Given the description of an element on the screen output the (x, y) to click on. 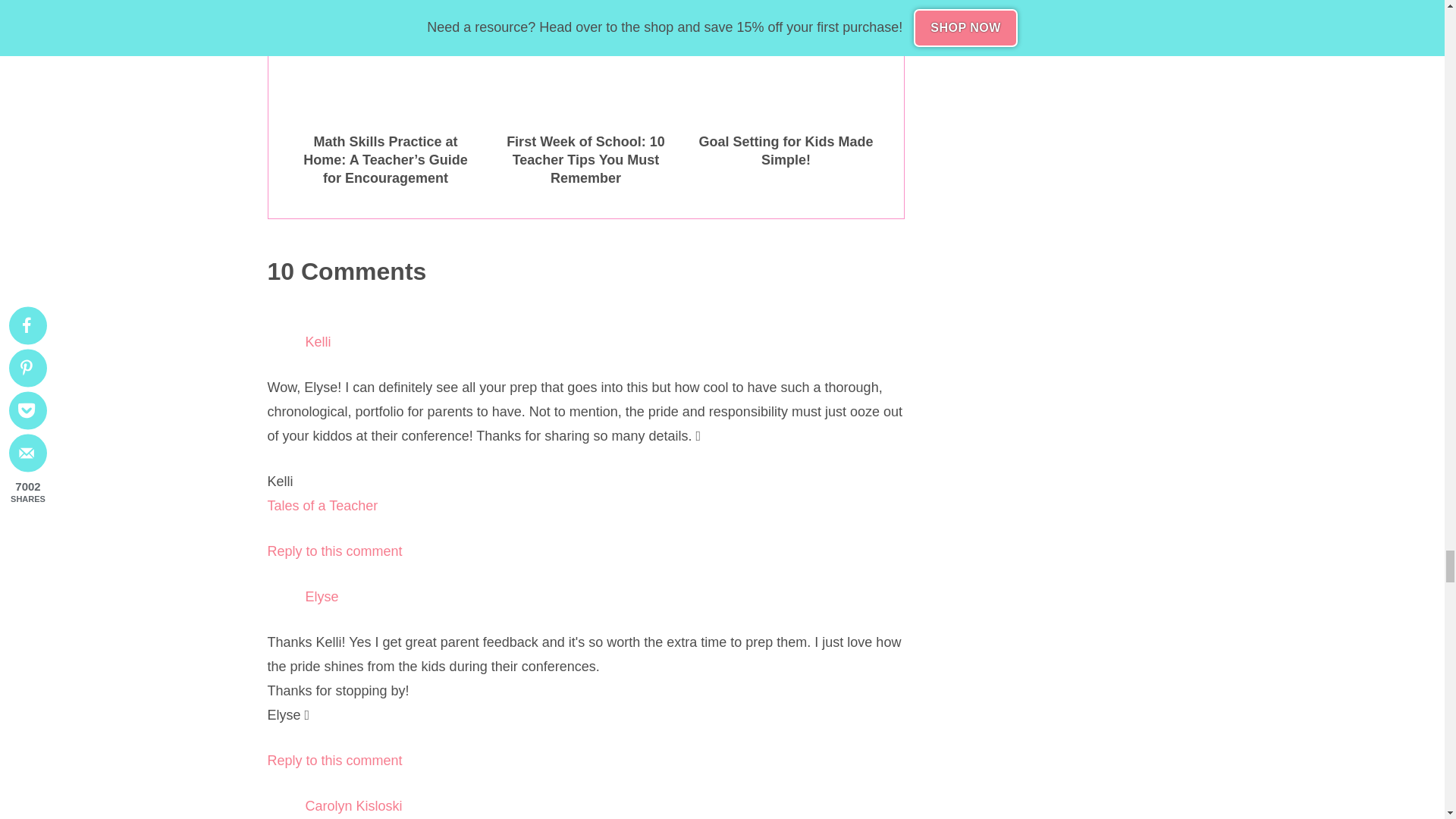
Permanent Link toGoal Setting for Kids Made Simple! (785, 94)
